Given the description of an element on the screen output the (x, y) to click on. 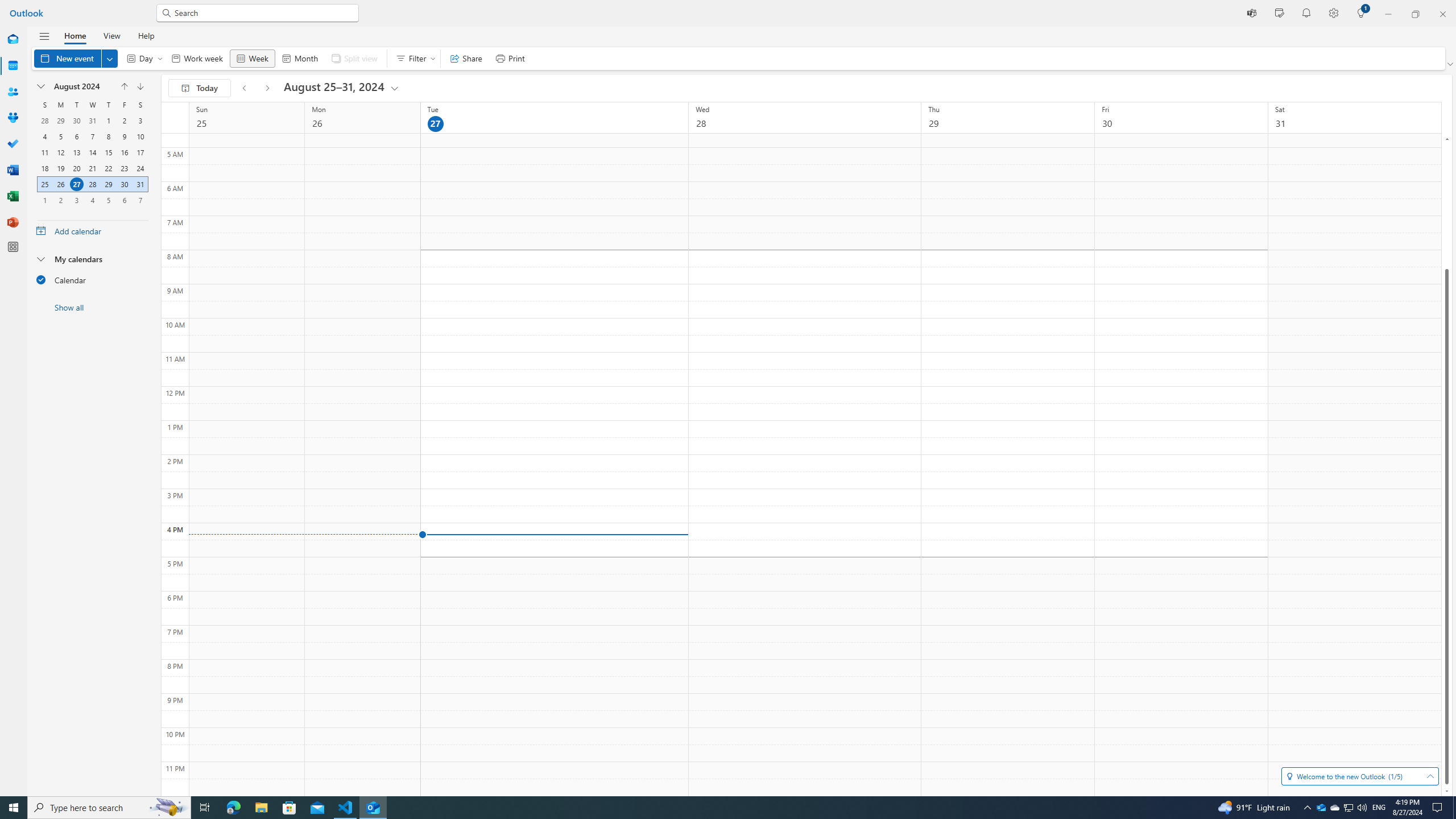
20, August, 2024 (75, 168)
Expand to see more Day options (159, 58)
29, August, 2024 (108, 184)
Date selector (41, 86)
31, August, 2024 (140, 183)
Search (262, 12)
2, August, 2024 (124, 120)
11, August, 2024 (44, 152)
25, August, 2024 (44, 184)
21, August, 2024 (92, 168)
Expand to see more New options (109, 58)
8, August, 2024 (108, 136)
